Given the description of an element on the screen output the (x, y) to click on. 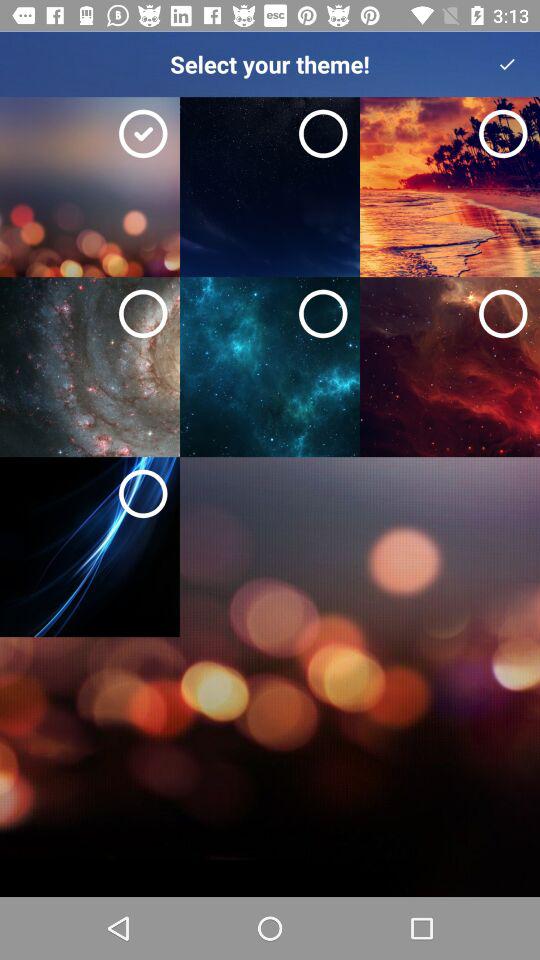
turn off the icon to the right of the select your theme! icon (507, 64)
